Given the description of an element on the screen output the (x, y) to click on. 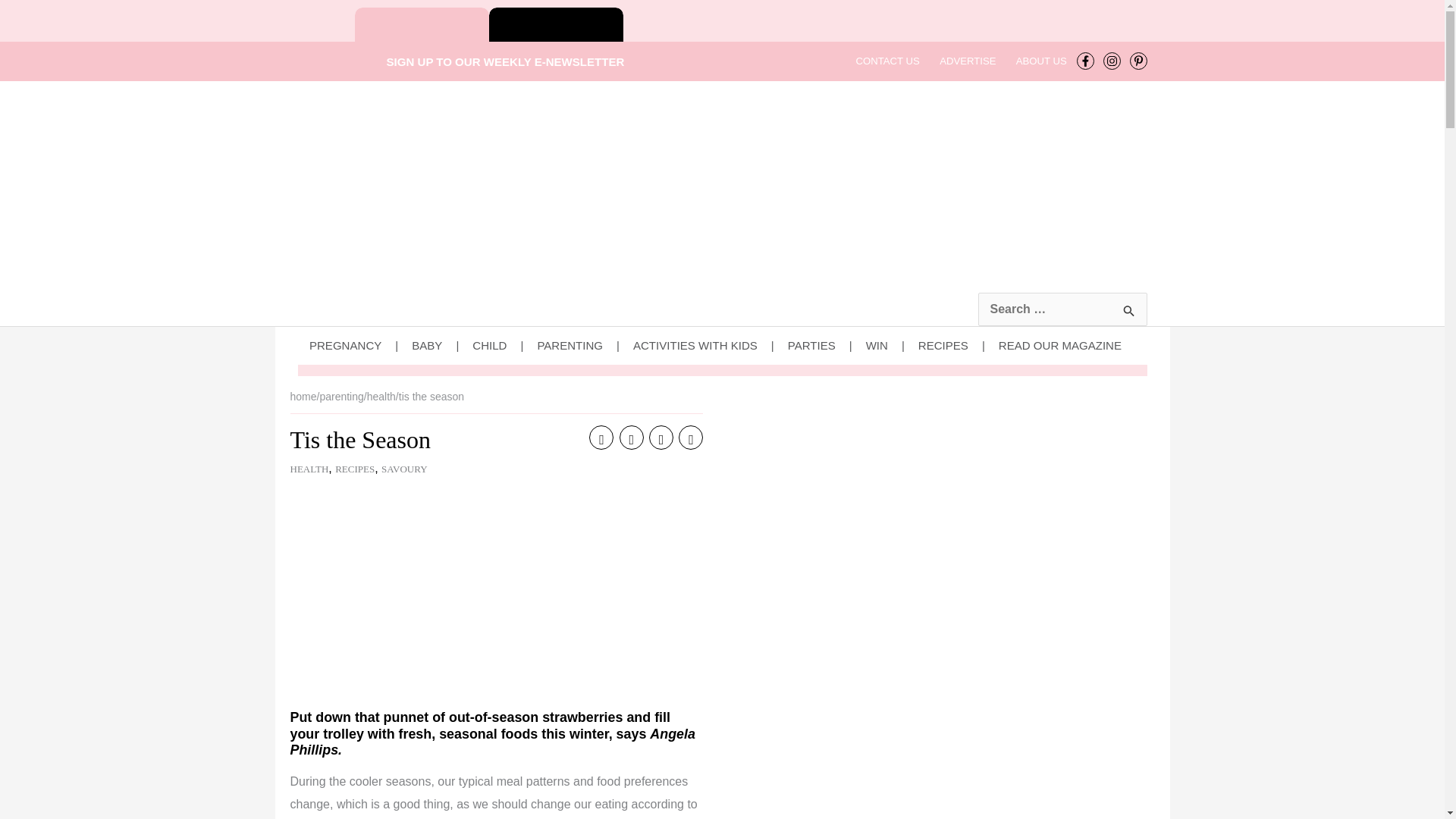
ABOUT US (1041, 61)
PREGNANCY (360, 345)
CHILD (504, 345)
BABY (441, 345)
CONTACT US (887, 61)
ADVERTISE (968, 61)
  SIGN UP TO OUR WEEKLY E-NEWSLETTER (487, 61)
PARENTING (585, 345)
